Given the description of an element on the screen output the (x, y) to click on. 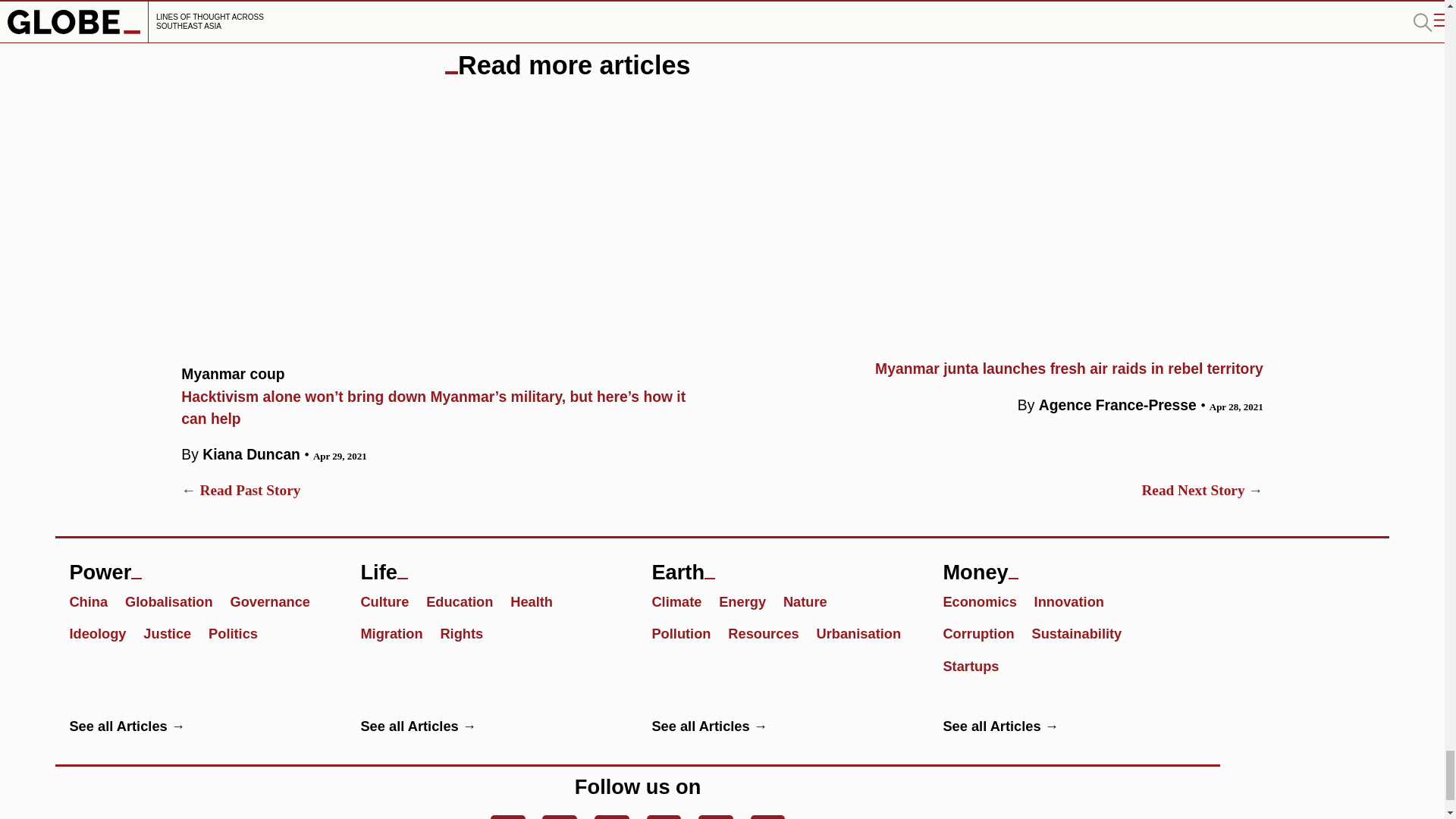
Ideology (103, 632)
Justice (173, 632)
Power (199, 565)
China (94, 600)
Governance (276, 600)
Myanmar junta launches fresh air raids in rebel territory (999, 368)
Globalisation (176, 600)
